Given the description of an element on the screen output the (x, y) to click on. 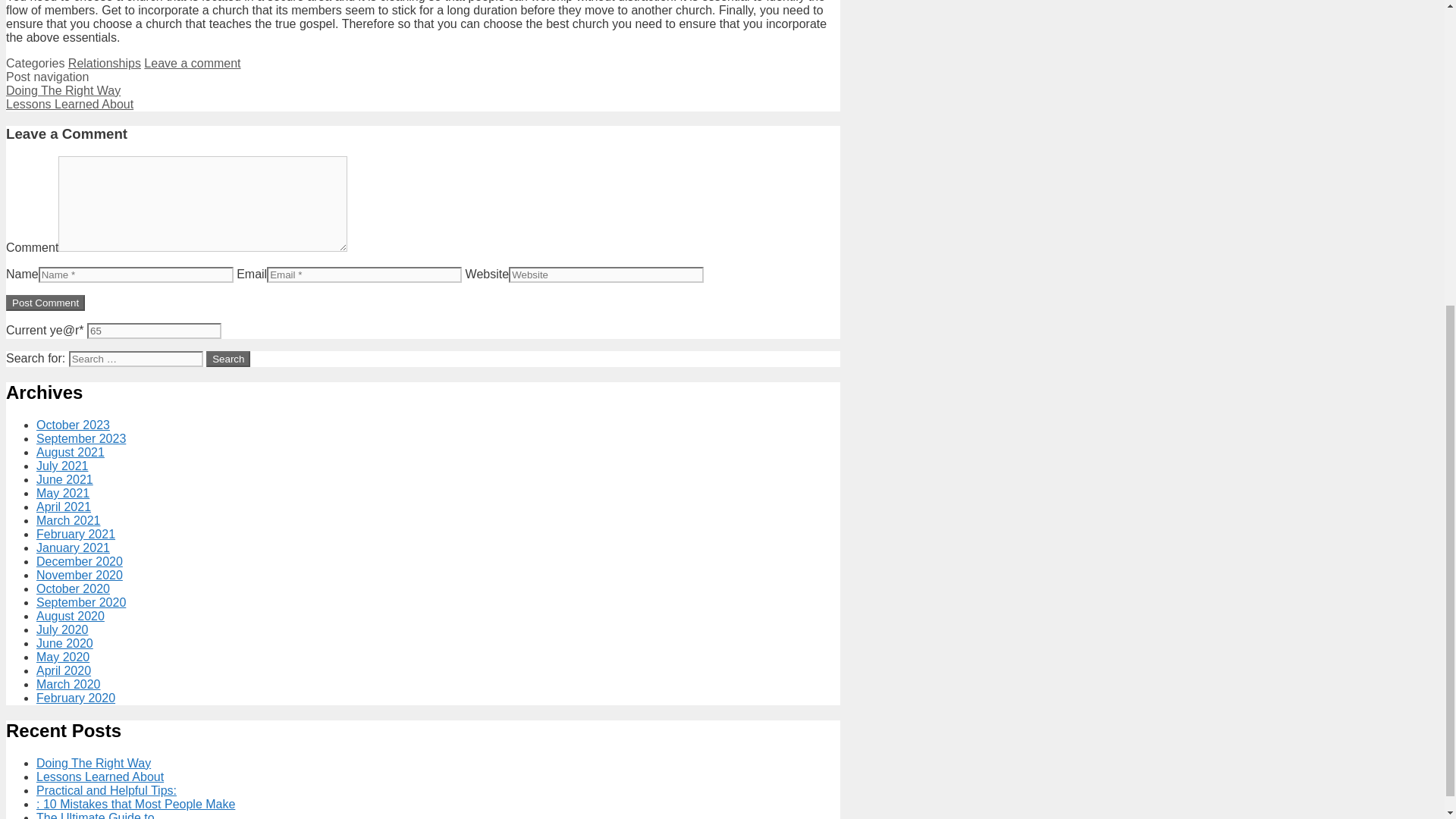
May 2020 (62, 656)
Search for: (135, 358)
March 2021 (68, 520)
Lessons Learned About (69, 103)
July 2021 (62, 465)
Leave a comment (192, 62)
June 2020 (64, 643)
April 2020 (63, 670)
February 2020 (75, 697)
December 2020 (79, 561)
